Given the description of an element on the screen output the (x, y) to click on. 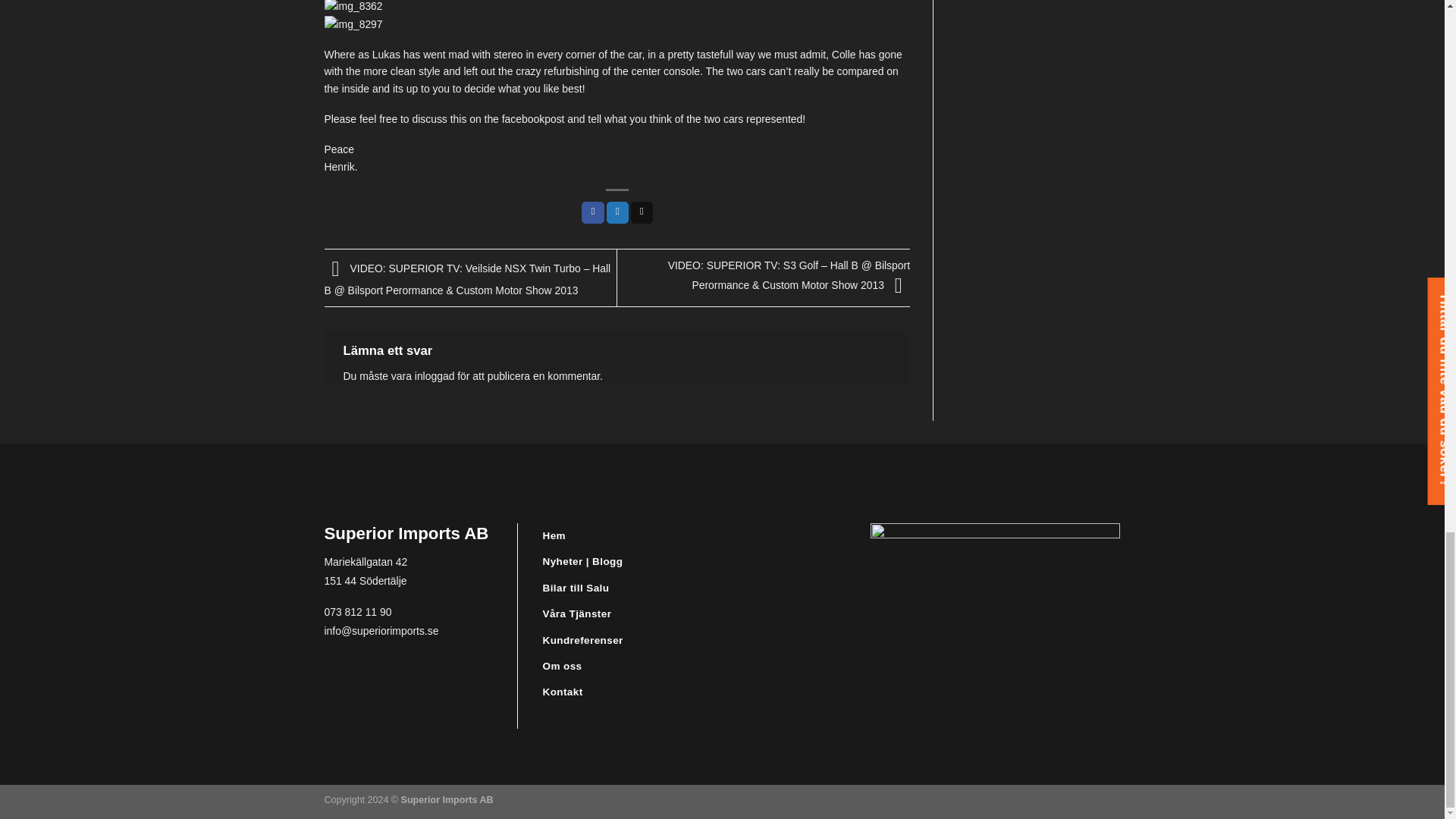
Maila en kompis (641, 212)
inloggad (434, 376)
